Given the description of an element on the screen output the (x, y) to click on. 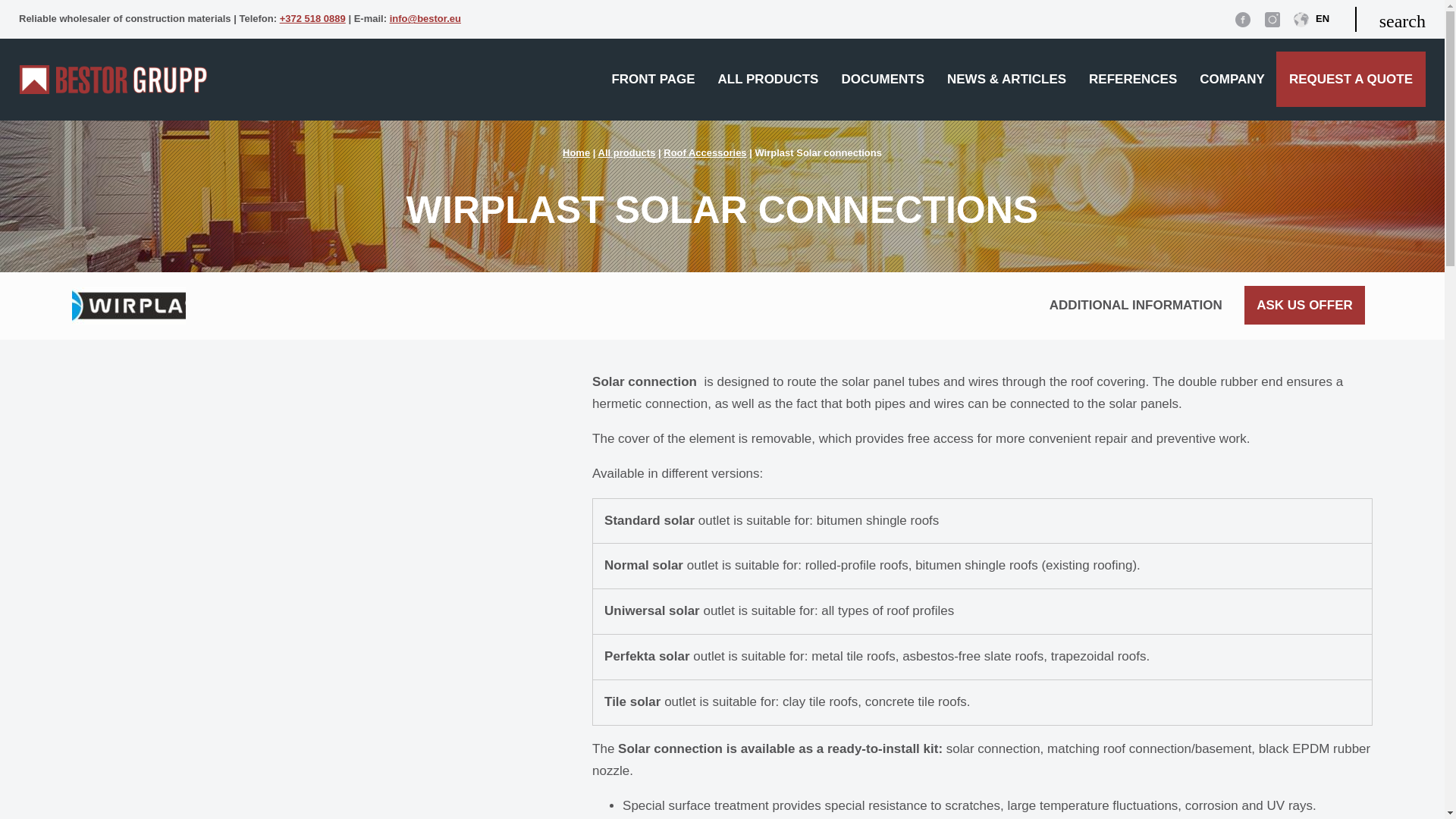
ASK US OFFER (1304, 304)
Home (575, 152)
FRONT PAGE (652, 79)
COMPANY (1232, 79)
ADDITIONAL INFORMATION (1136, 305)
Bestor Grupp (112, 89)
All products (627, 152)
REFERENCES (1132, 79)
search (1390, 18)
Roof Accessories (704, 152)
DOCUMENTS (882, 79)
EN (1311, 23)
REQUEST A QUOTE (1350, 79)
ALL PRODUCTS (767, 79)
